Given the description of an element on the screen output the (x, y) to click on. 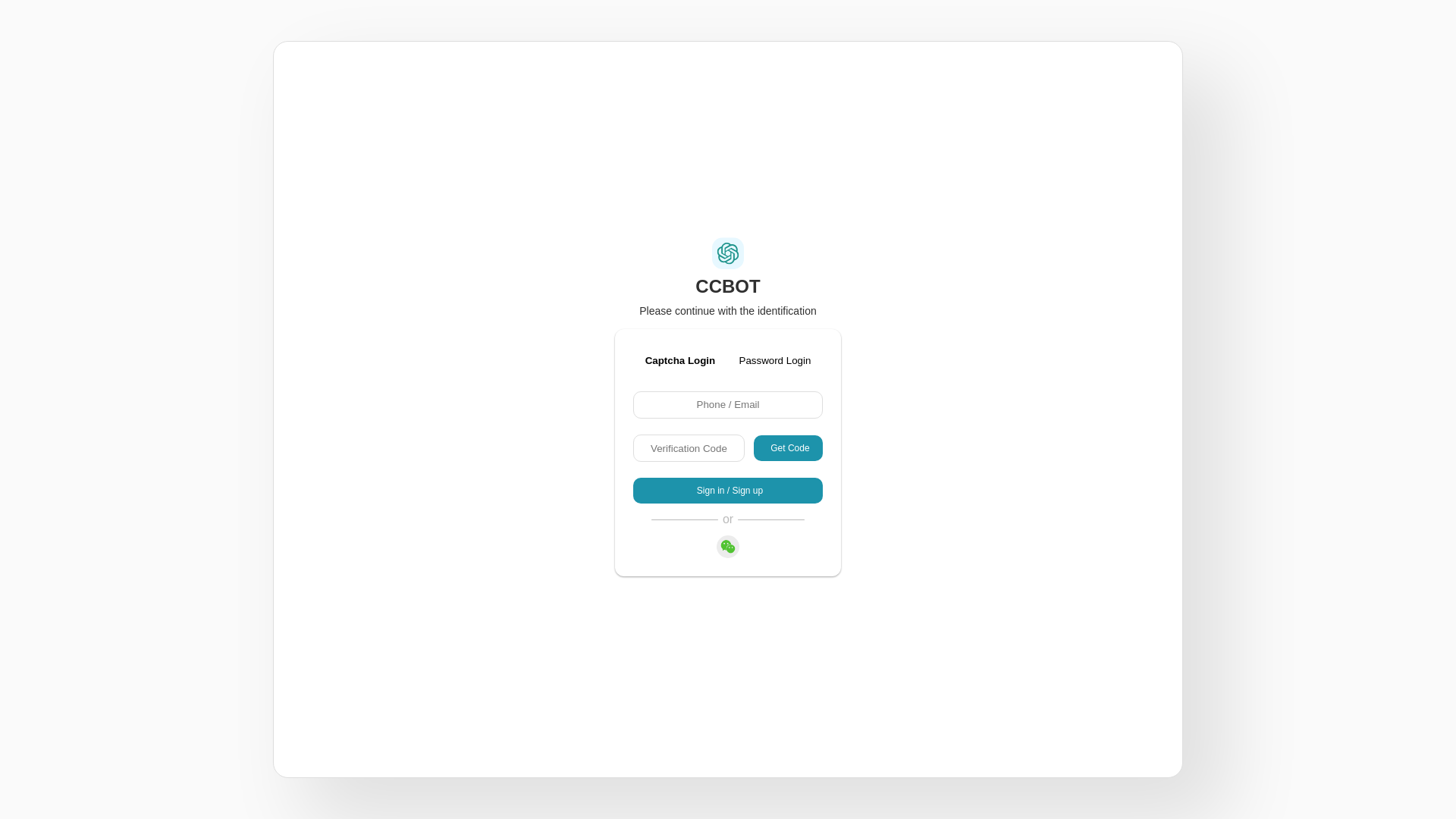
Get Code Element type: text (787, 448)
Captcha Login Element type: text (680, 360)
Sign in / Sign up Element type: text (727, 490)
Password Login Element type: text (774, 360)
